Given the description of an element on the screen output the (x, y) to click on. 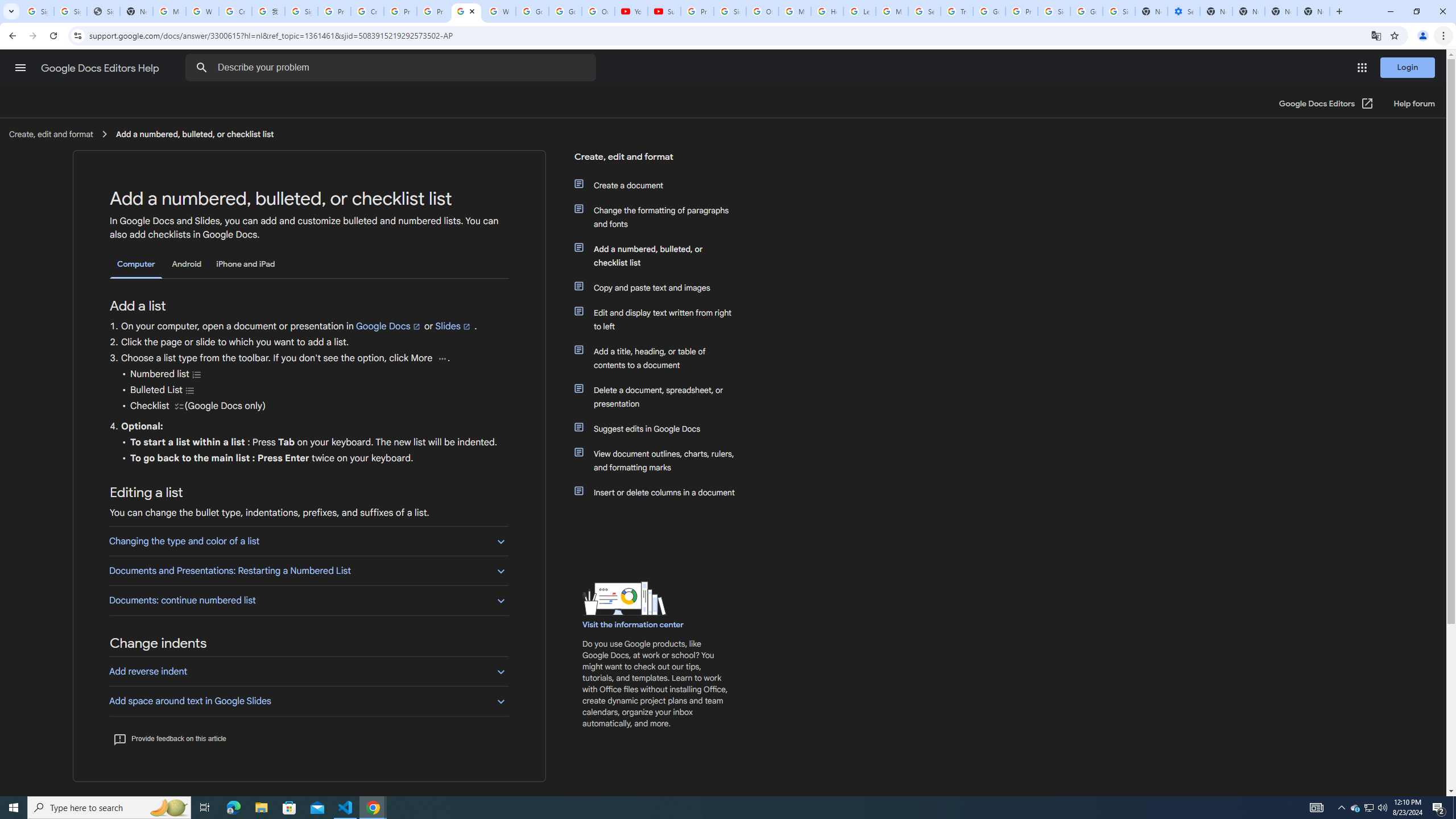
System (6, 6)
Trusted Information and Content - Google Safety Center (957, 11)
iPhone and iPad (245, 263)
Visit the information center (633, 624)
Create, edit and format (656, 160)
Create your Google Account (235, 11)
Changing the type and color of a list (308, 540)
More (441, 357)
